Given the description of an element on the screen output the (x, y) to click on. 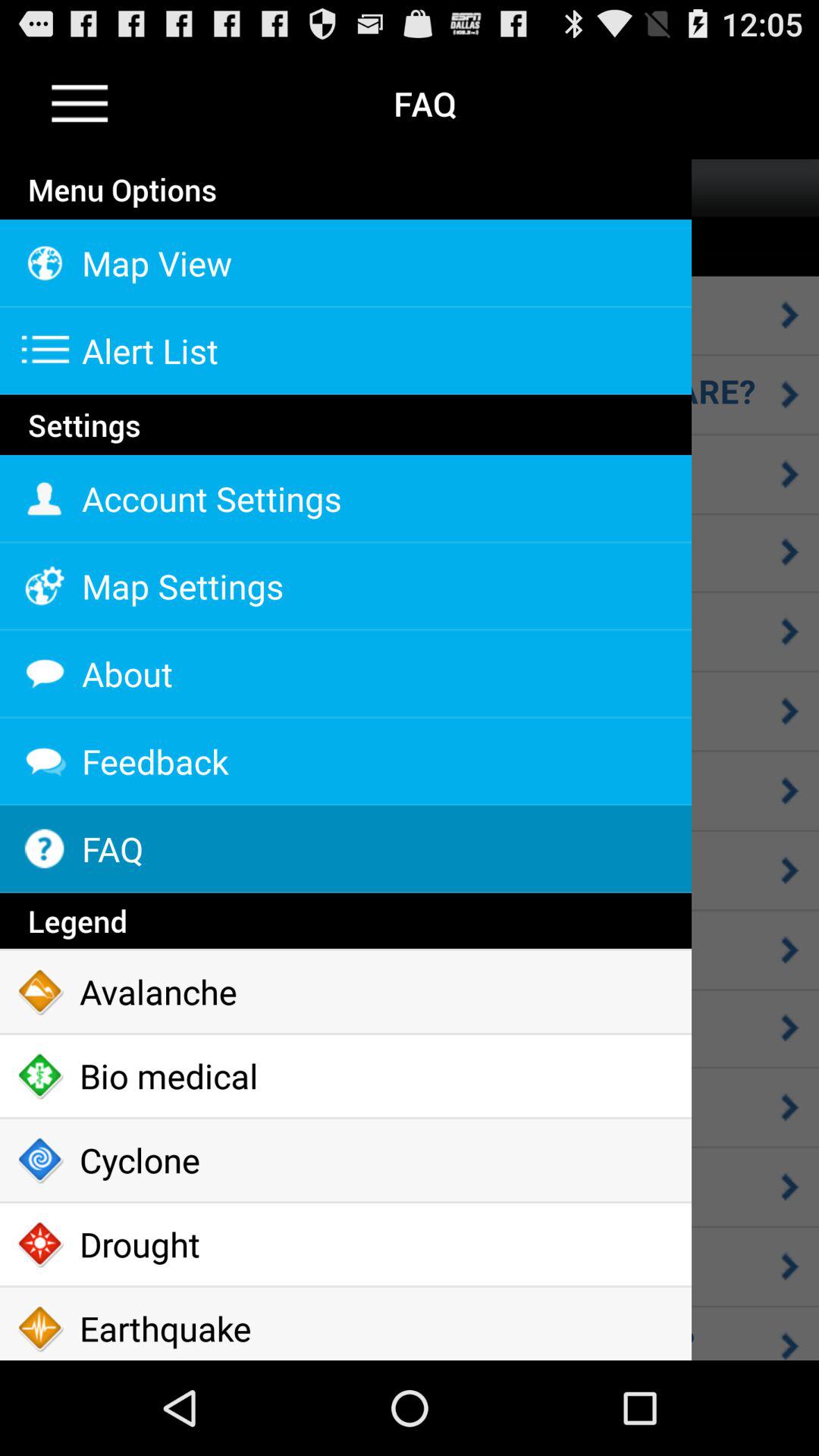
turn on map settings (345, 586)
